Given the description of an element on the screen output the (x, y) to click on. 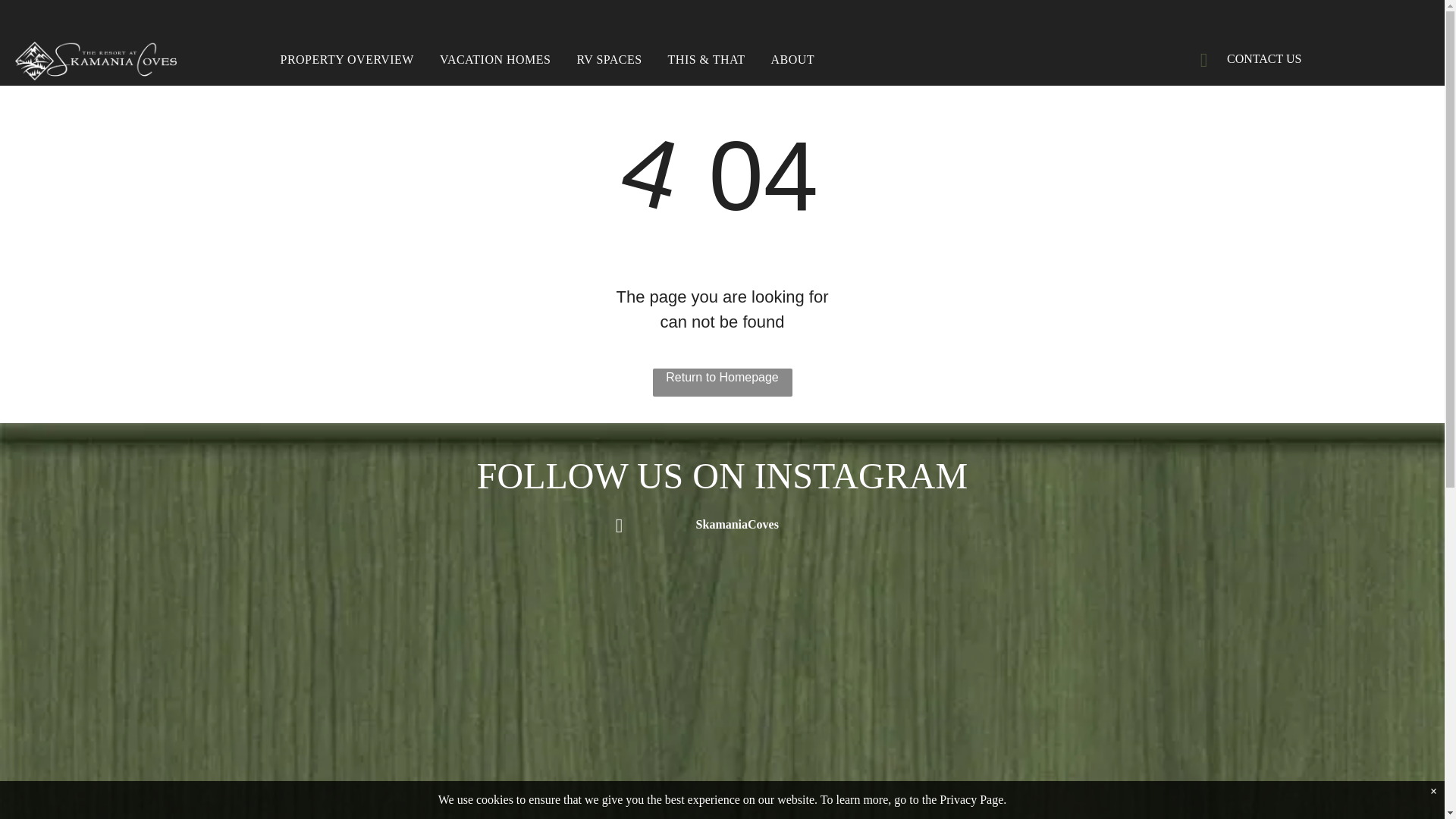
RV SPACES (608, 59)
     CONTACT US (1256, 58)
PROPERTY OVERVIEW (346, 59)
Return to Homepage (722, 382)
ABOUT (792, 59)
SkamaniaCoves (721, 524)
VACATION HOMES (494, 59)
